Given the description of an element on the screen output the (x, y) to click on. 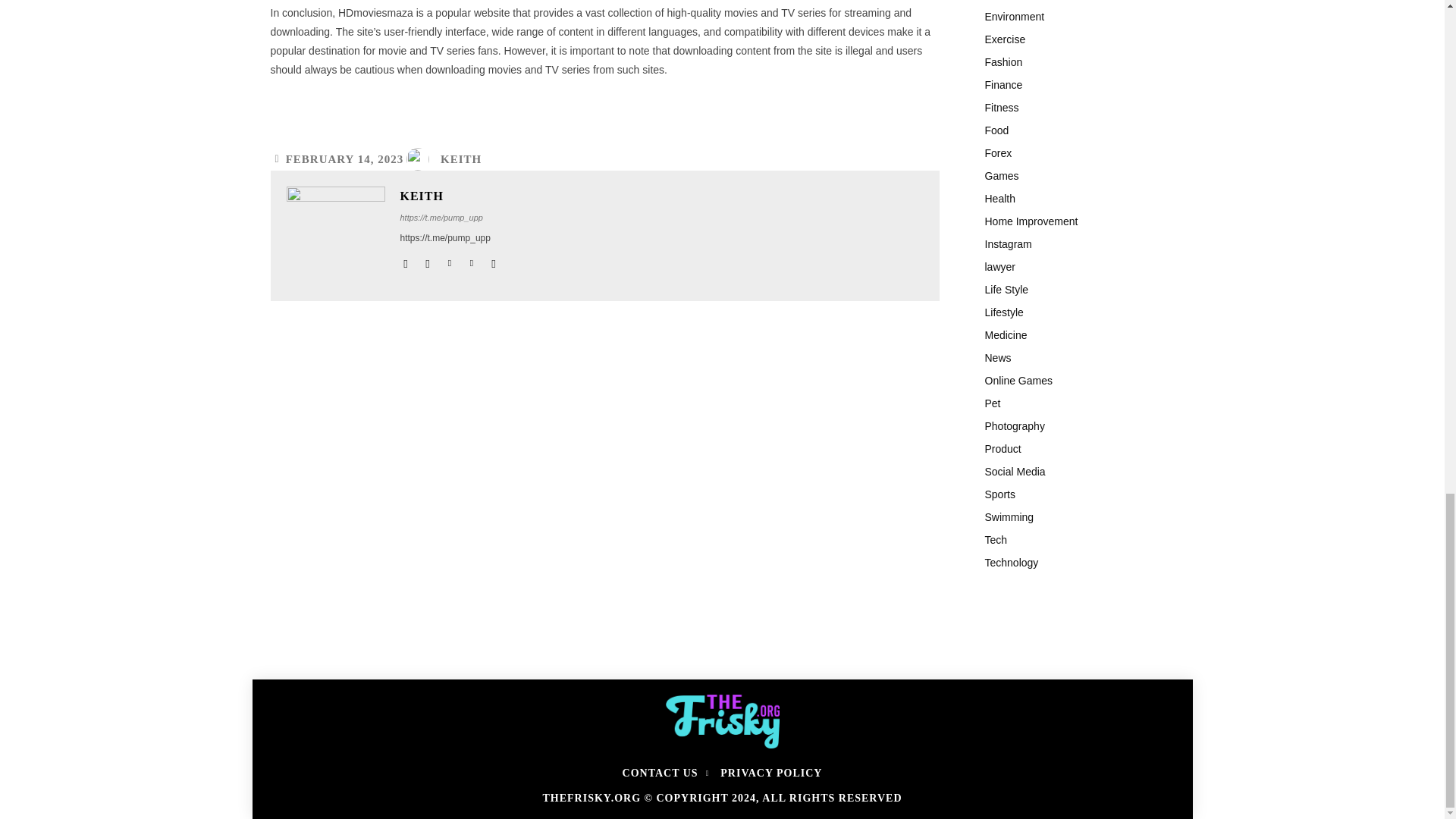
flickr (427, 260)
linkedin (449, 260)
KEITH (461, 159)
keith (421, 159)
keith (335, 235)
pinterest (471, 260)
behance (406, 260)
KEITH (449, 196)
youtube (493, 260)
